Given the description of an element on the screen output the (x, y) to click on. 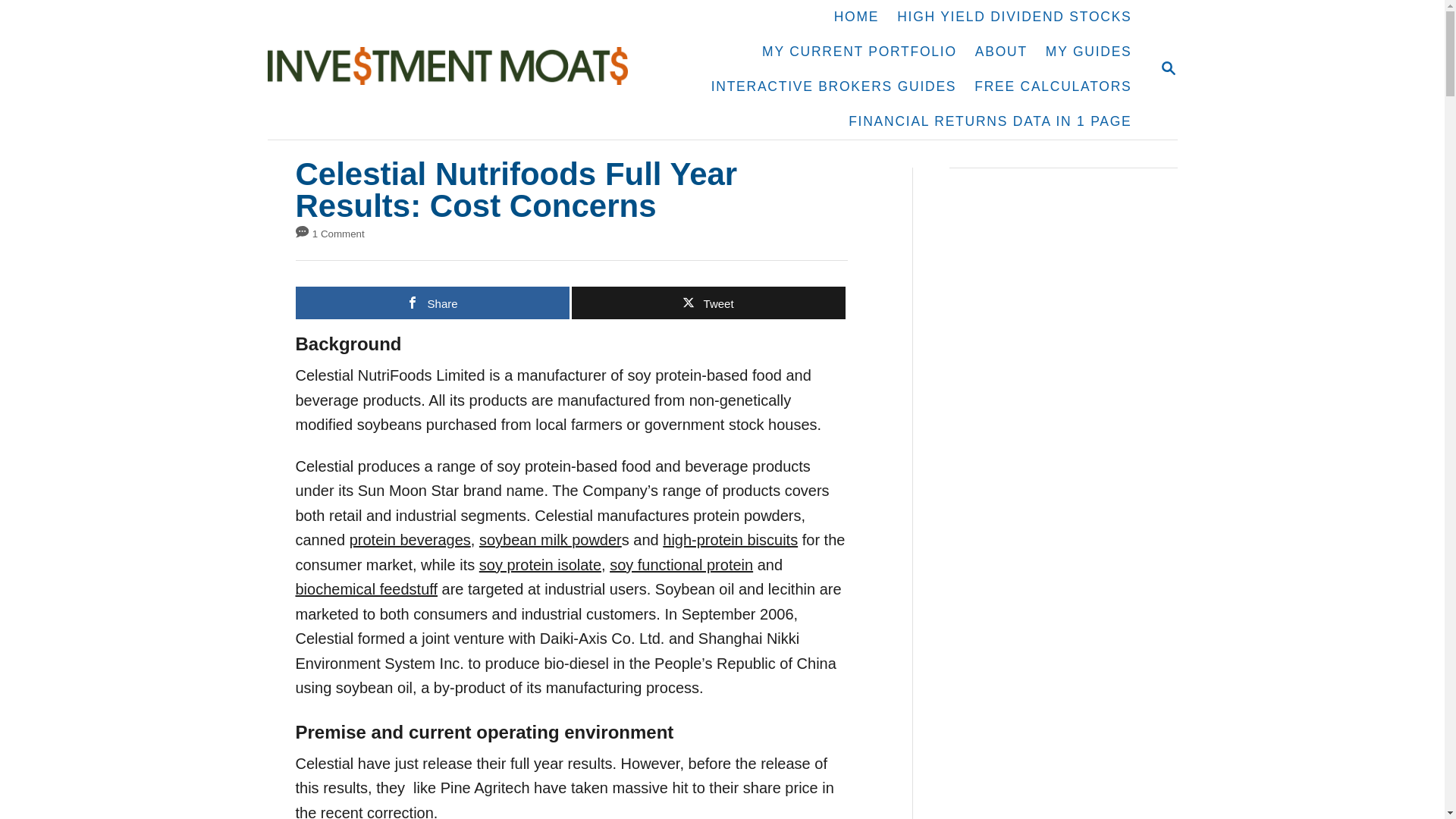
FREE CALCULATORS (1052, 86)
Share (432, 302)
INTERACTIVE BROKERS GUIDES (833, 86)
MAGNIFYING GLASS (1167, 67)
FINANCIAL RETURNS DATA IN 1 PAGE (990, 121)
MY CURRENT PORTFOLIO (859, 52)
MY GUIDES (1088, 52)
Investment Moats (455, 69)
HOME (856, 17)
HIGH YIELD DIVIDEND STOCKS (1014, 17)
Tweet (708, 302)
ABOUT (1001, 52)
